Given the description of an element on the screen output the (x, y) to click on. 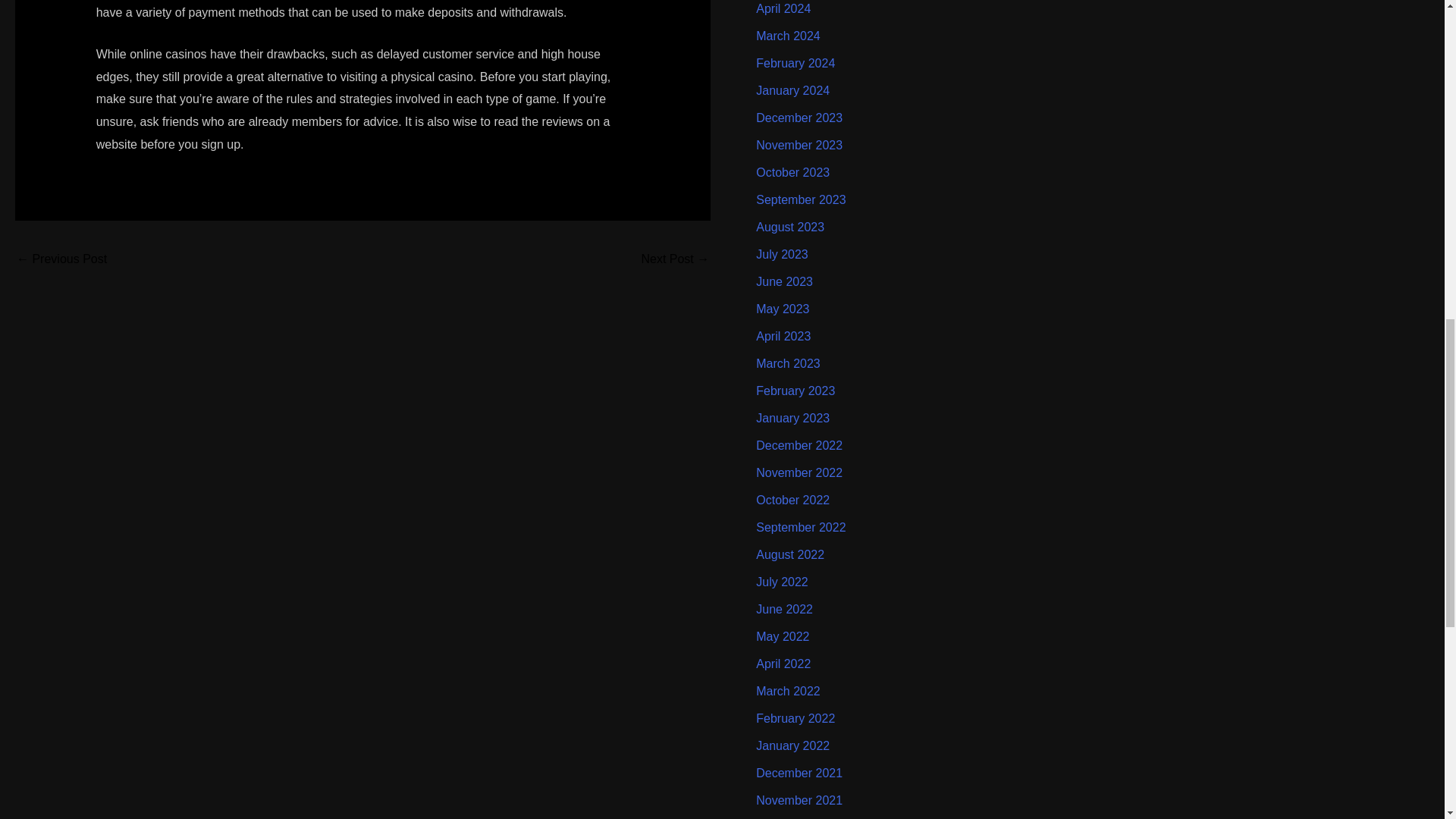
December 2022 (799, 445)
June 2023 (783, 281)
September 2023 (800, 199)
September 2022 (800, 526)
April 2024 (782, 8)
March 2024 (788, 35)
January 2024 (792, 90)
November 2022 (799, 472)
March 2023 (788, 363)
July 2023 (781, 254)
November 2023 (799, 144)
April 2023 (782, 336)
January 2023 (792, 418)
How to Win the Lottery (674, 260)
Learn the Basics of Poker (61, 260)
